Given the description of an element on the screen output the (x, y) to click on. 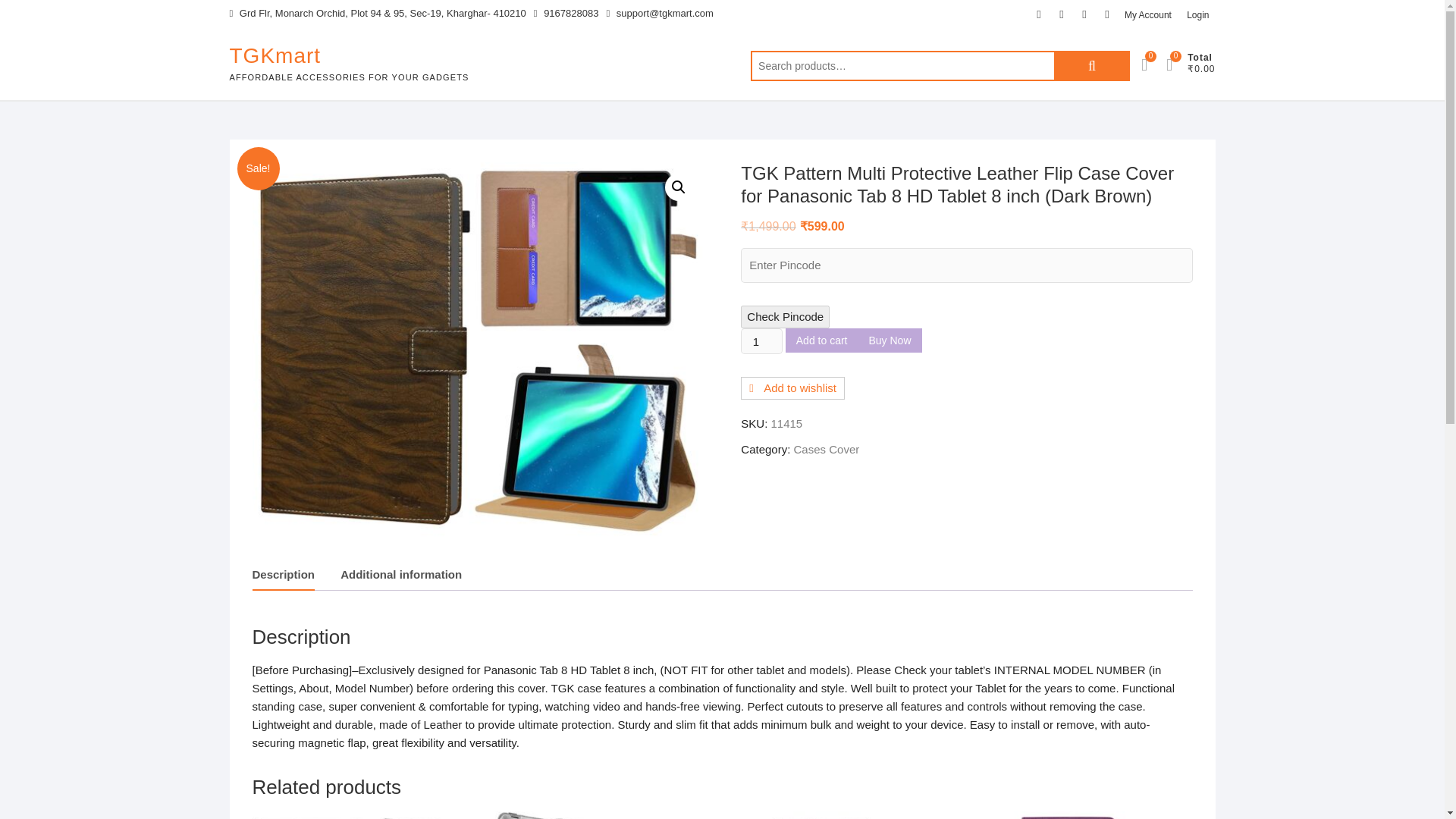
Search (1091, 65)
Login (1197, 15)
instagram (1107, 14)
9167828083 (566, 13)
Add to cart (822, 340)
TGKmart (348, 55)
Mail Us (659, 13)
facebook (1038, 14)
twitter (1061, 14)
Our Address (376, 13)
Call Us (566, 13)
